Given the description of an element on the screen output the (x, y) to click on. 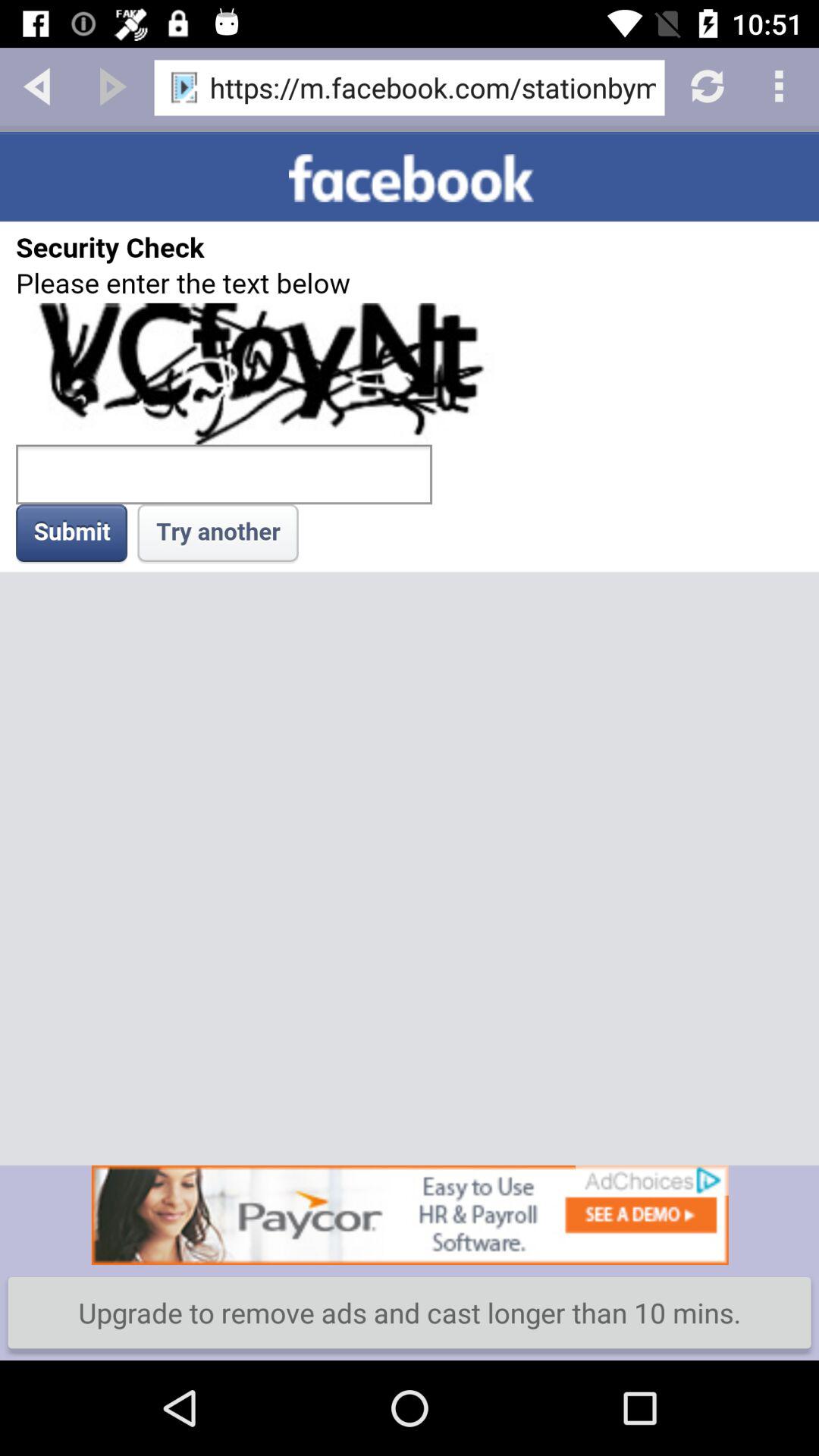
go to next button (113, 85)
